Given the description of an element on the screen output the (x, y) to click on. 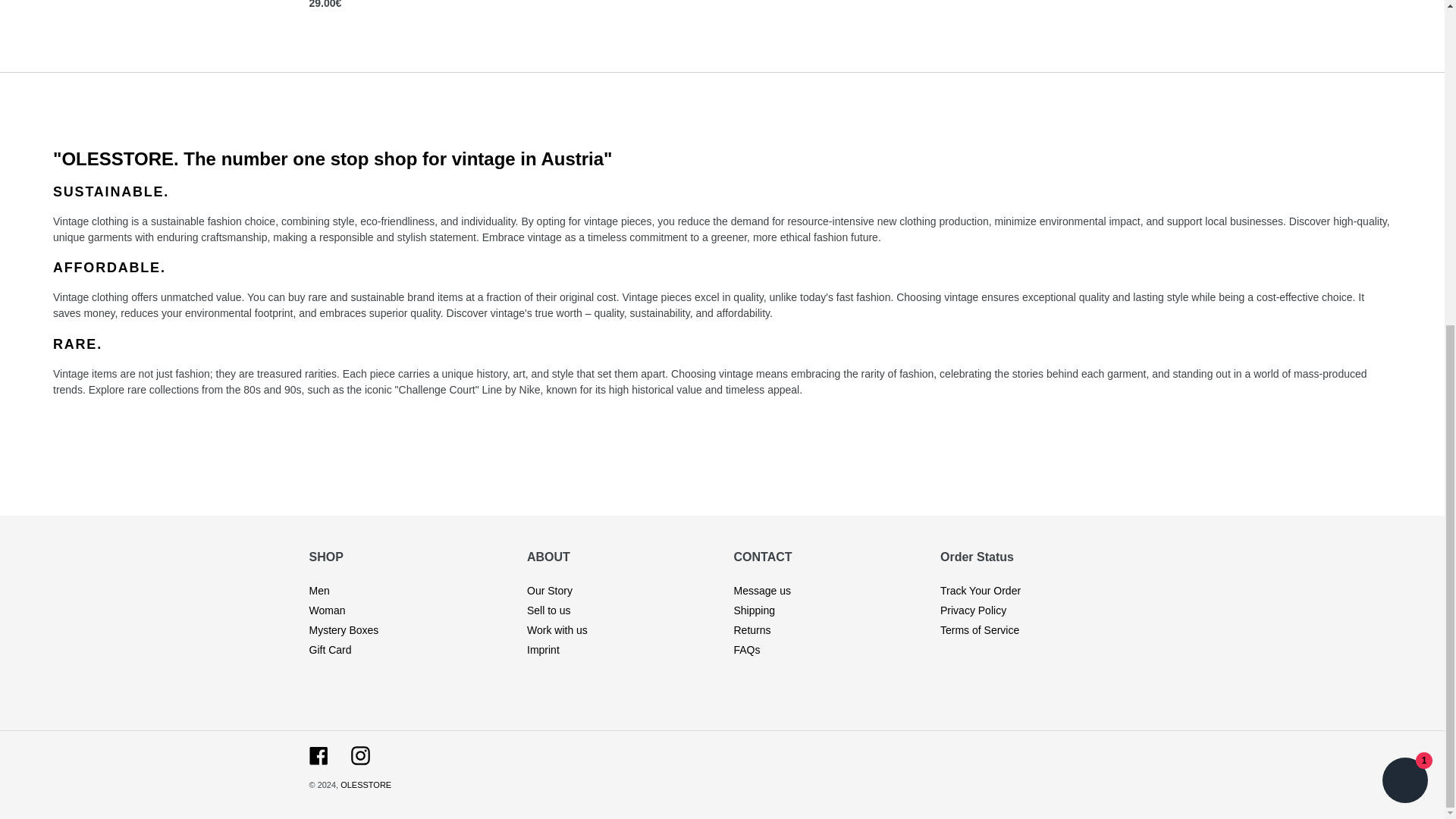
Shopify online store chat (1404, 248)
